Given the description of an element on the screen output the (x, y) to click on. 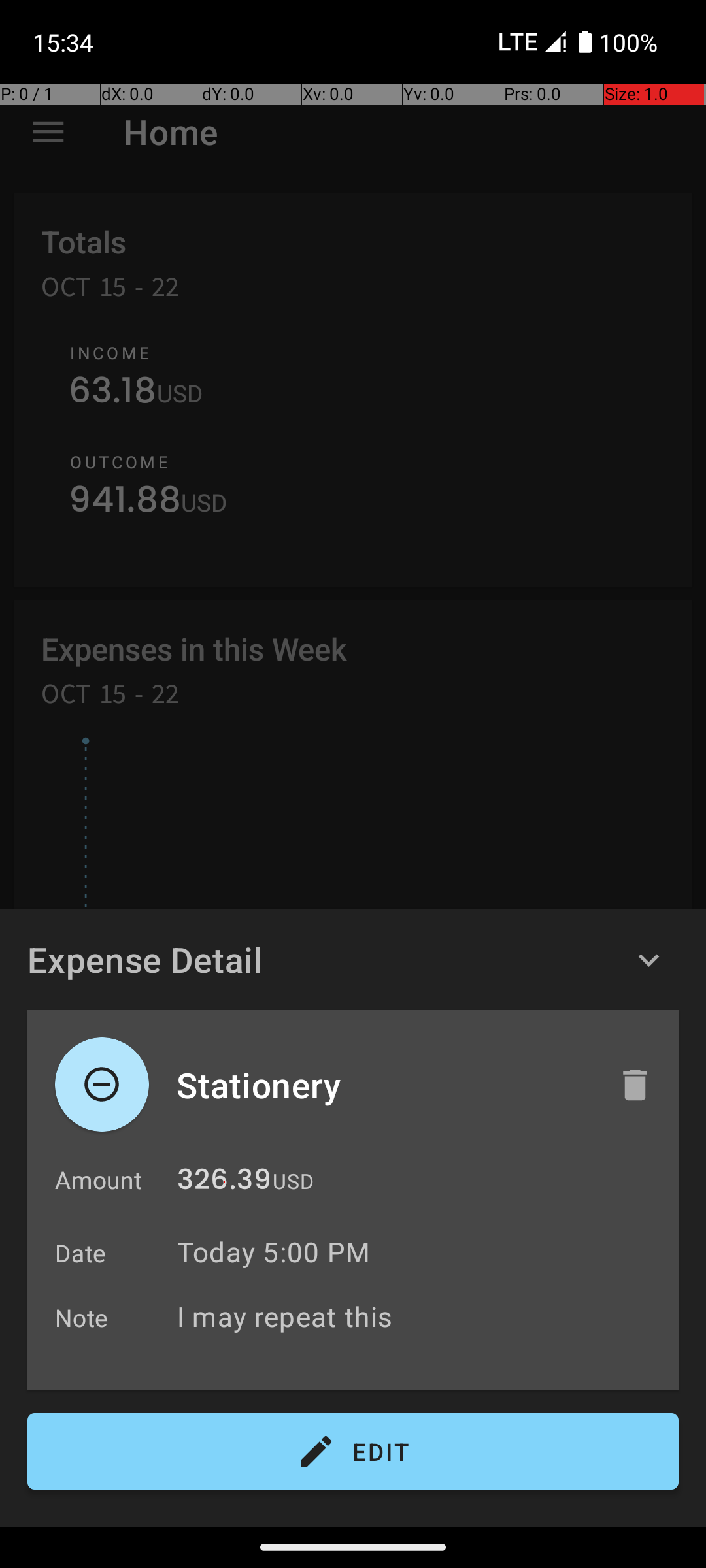
Stationery Element type: android.widget.TextView (383, 1084)
326.39 Element type: android.widget.TextView (223, 1182)
